Given the description of an element on the screen output the (x, y) to click on. 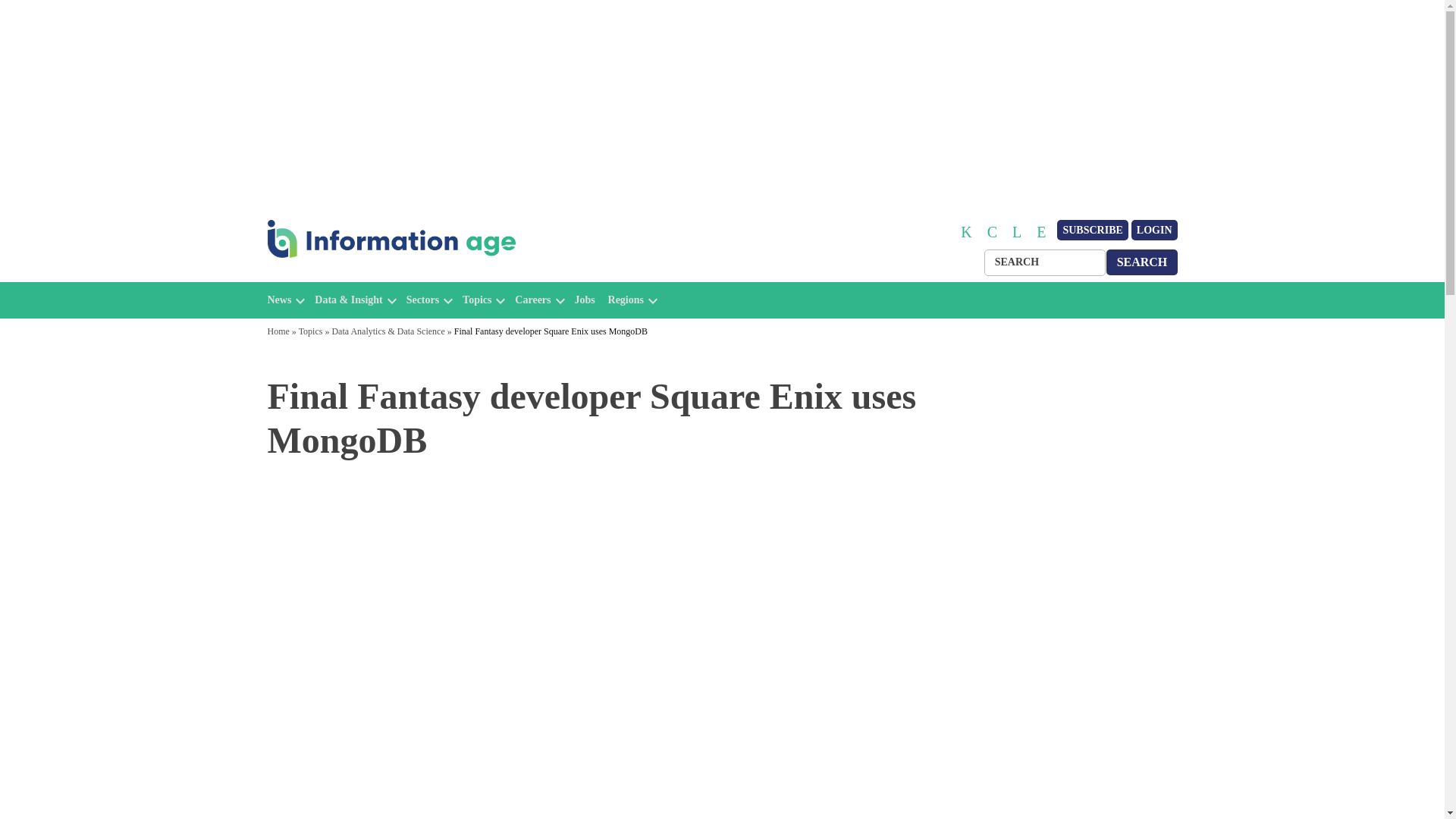
News (278, 299)
SEARCH (1142, 261)
SUBSCRIBE (1091, 230)
Information Age (331, 275)
LOGIN (1154, 230)
Sectors (422, 299)
